Given the description of an element on the screen output the (x, y) to click on. 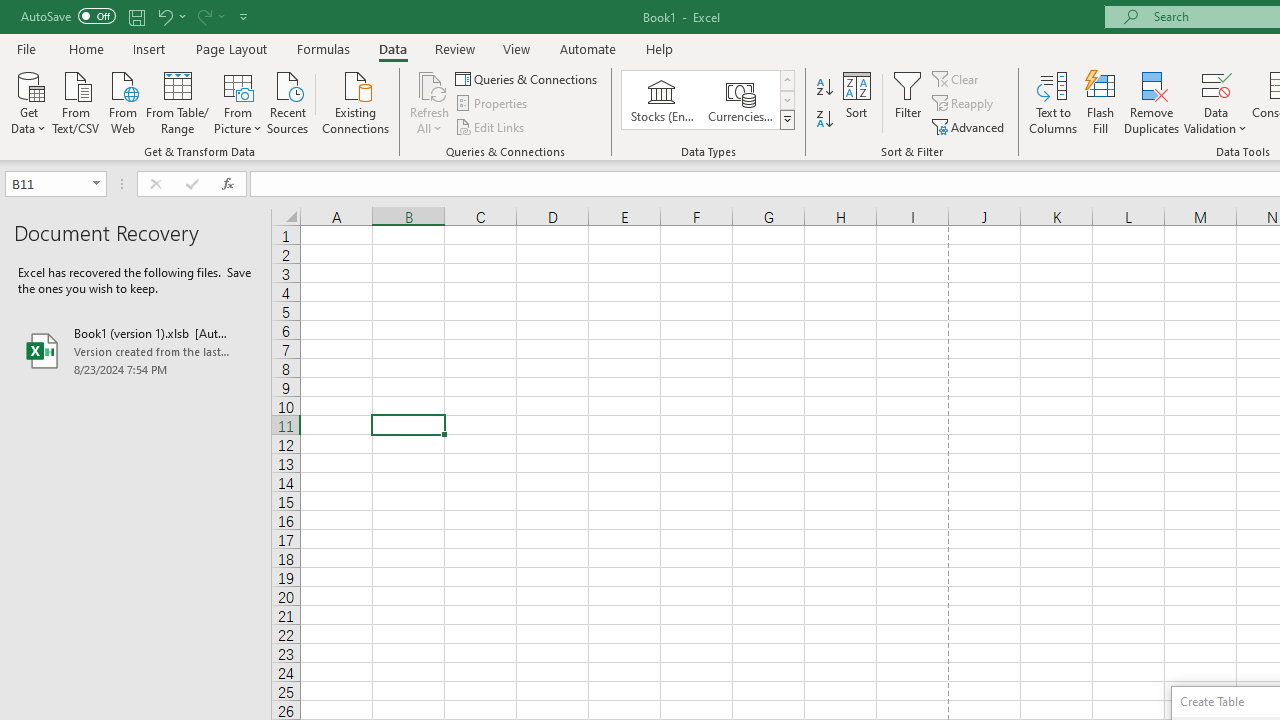
From Text/CSV (75, 101)
Book1 (version 1).xlsb  [AutoRecovered] (136, 350)
Automate (588, 48)
Home (86, 48)
Recent Sources (287, 101)
Help (660, 48)
View (517, 48)
Undo (164, 15)
Currencies (English) (740, 100)
From Table/Range (177, 101)
Save (136, 15)
Customize Quick Access Toolbar (244, 15)
